Given the description of an element on the screen output the (x, y) to click on. 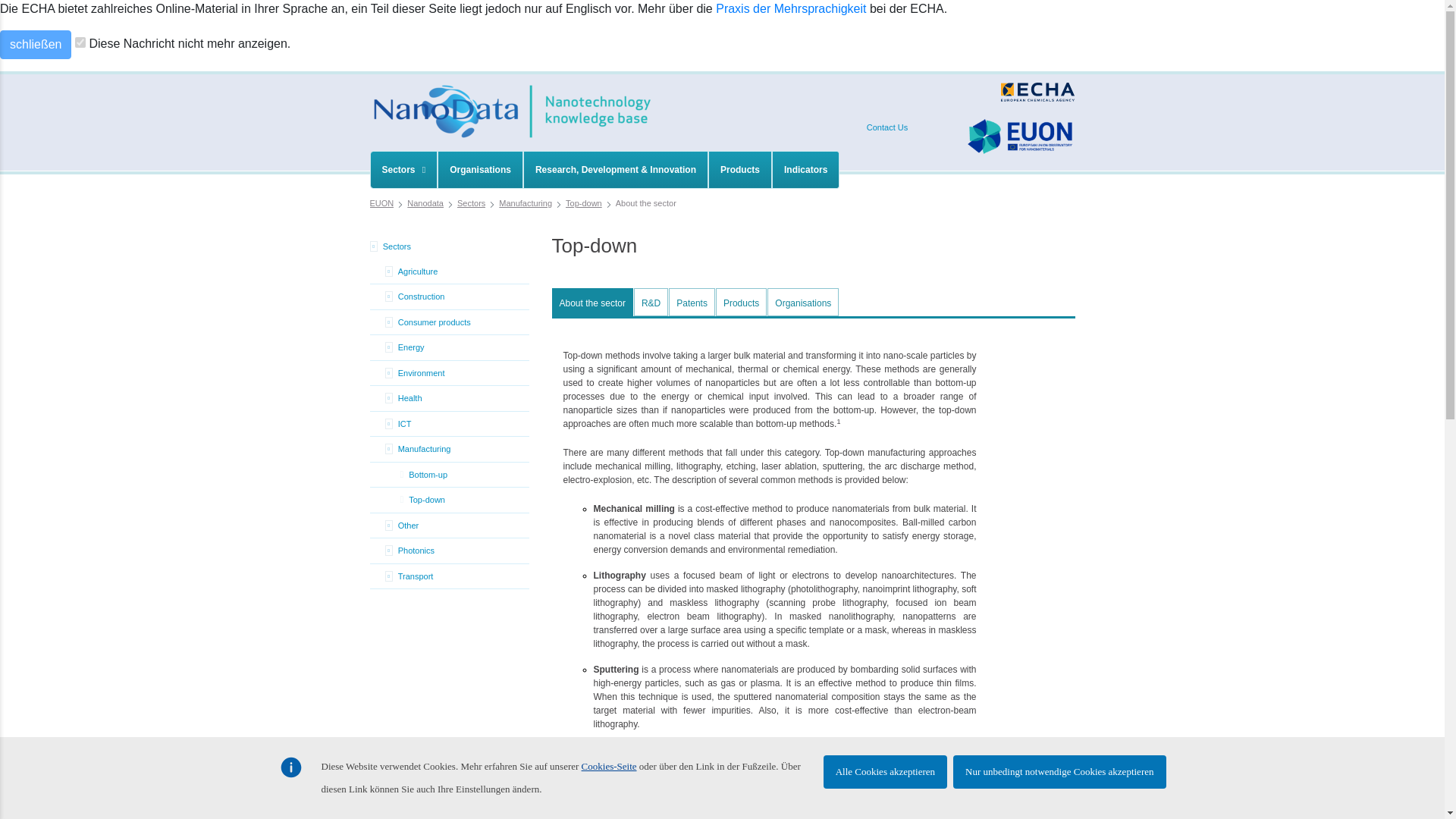
Indicators (805, 169)
Organisations (480, 169)
Products (739, 169)
Nanodata (425, 203)
on (80, 41)
Praxis der Mehrsprachigkeit (791, 8)
EUON (381, 203)
Sectors (403, 169)
Cookies-Seite (608, 766)
Nur unbedingt notwendige Cookies akzeptieren (1059, 771)
